Given the description of an element on the screen output the (x, y) to click on. 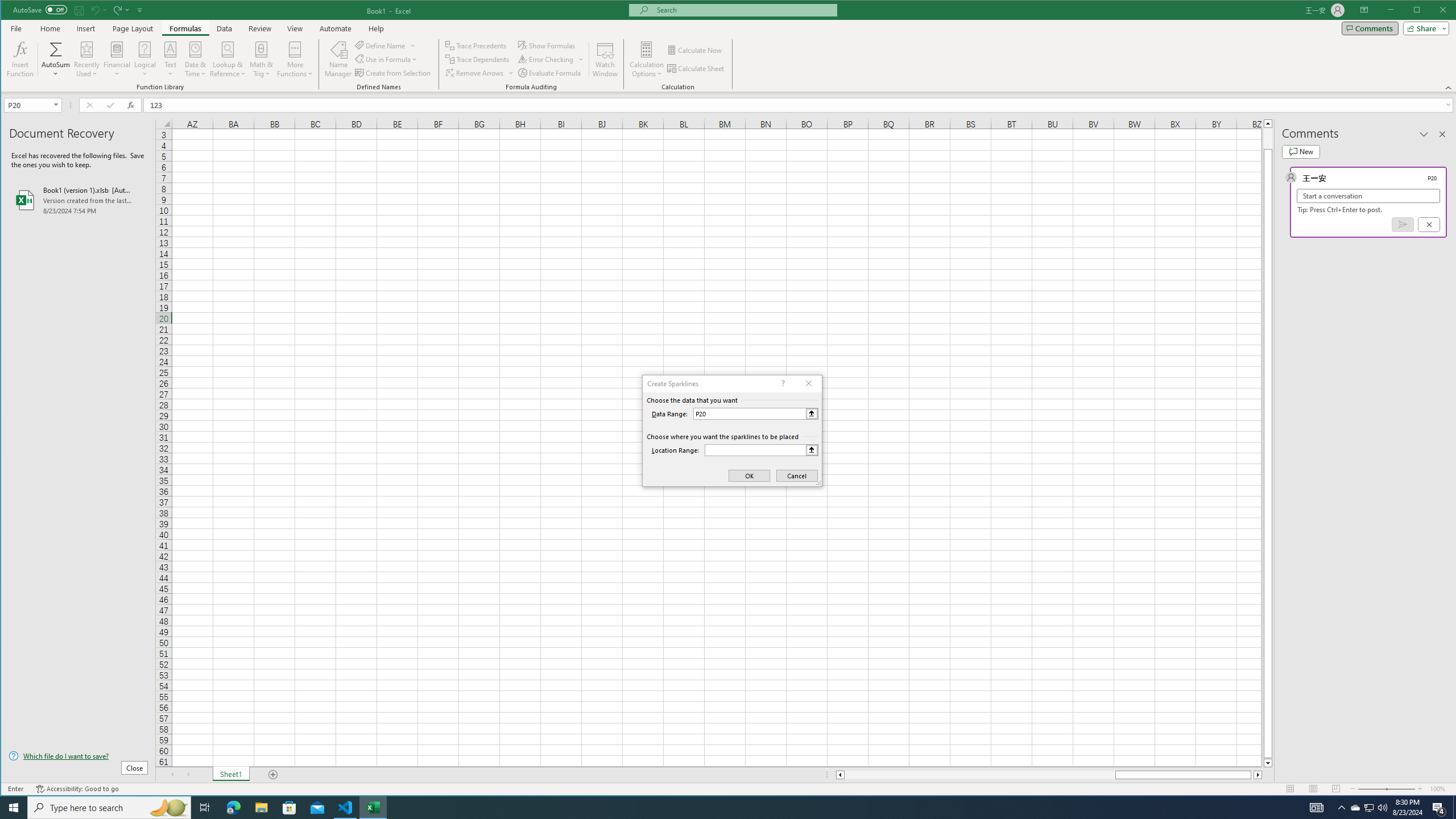
Trace Dependents (478, 59)
Remove Arrows (475, 72)
AutoSum (55, 59)
Book1 (version 1).xlsb  [AutoRecovered] (78, 199)
Page left (979, 774)
Name Manager (338, 59)
Error Checking... (551, 59)
